Given the description of an element on the screen output the (x, y) to click on. 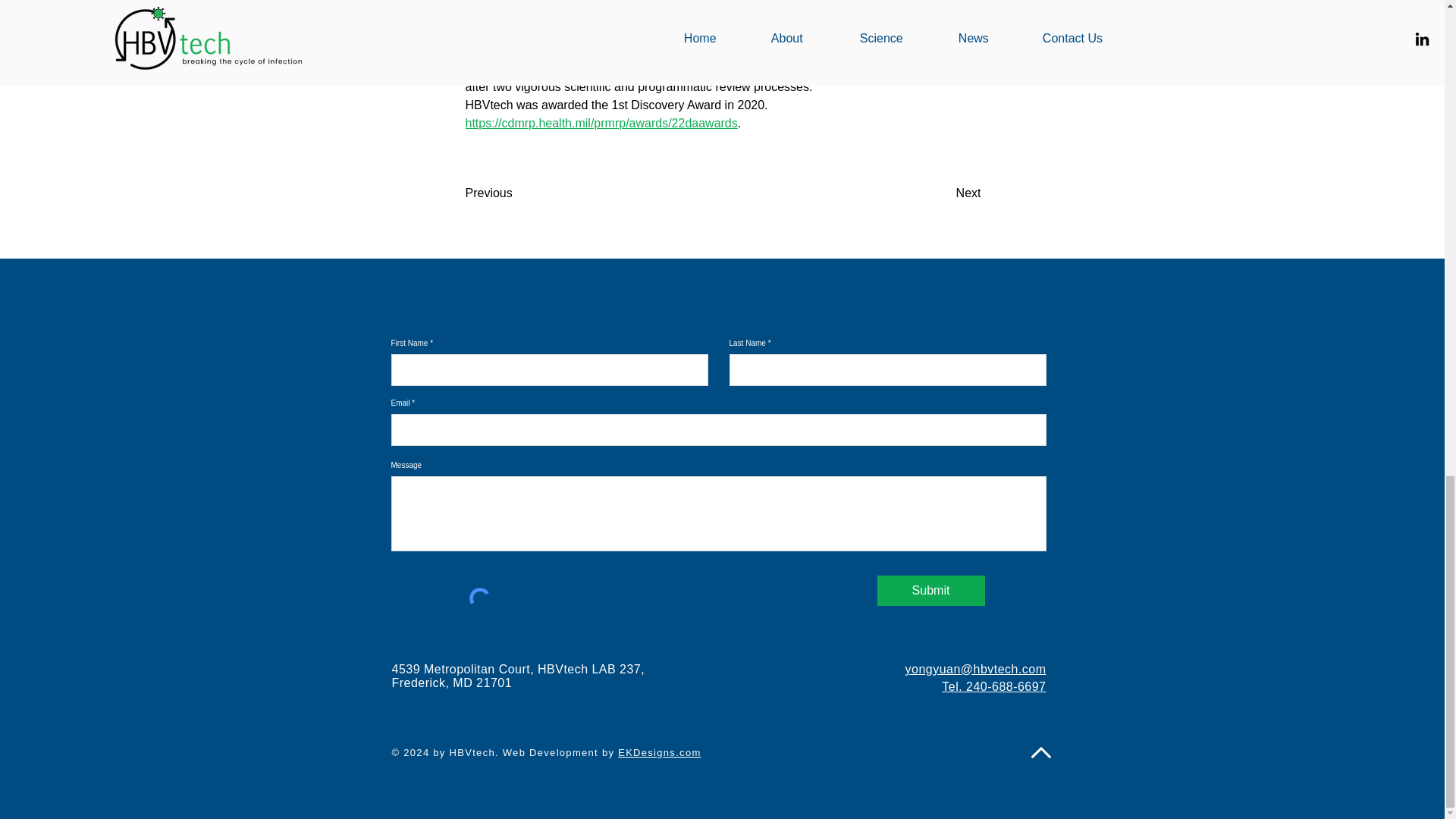
Previous (515, 194)
Next (943, 194)
EKDesigns.com (658, 752)
Tel. 240-688-6697 (993, 686)
Submit (930, 590)
